Given the description of an element on the screen output the (x, y) to click on. 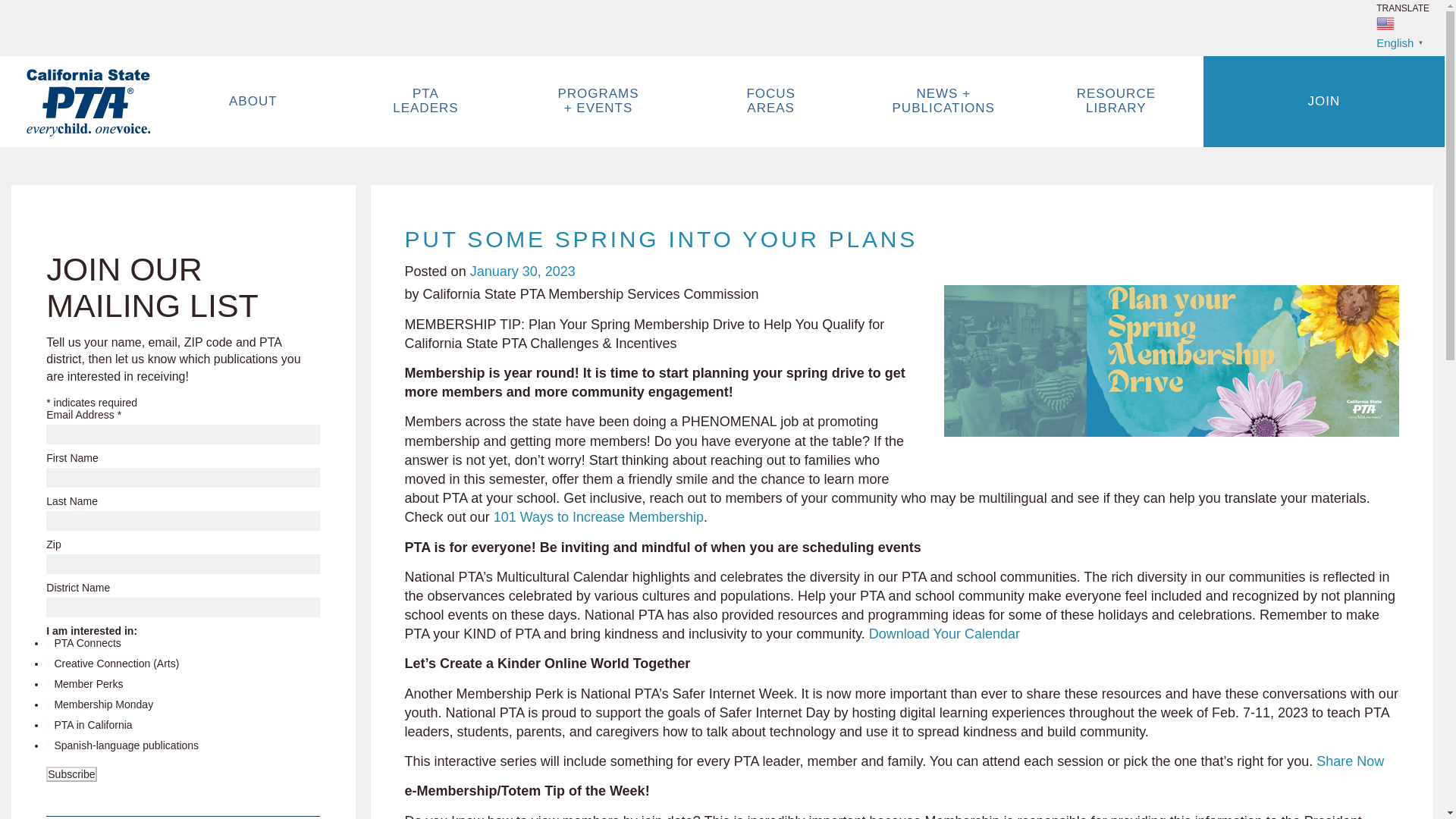
ABOUT (253, 101)
Subscribe (71, 774)
CALIFORNIA STATE PTA (88, 102)
